Given the description of an element on the screen output the (x, y) to click on. 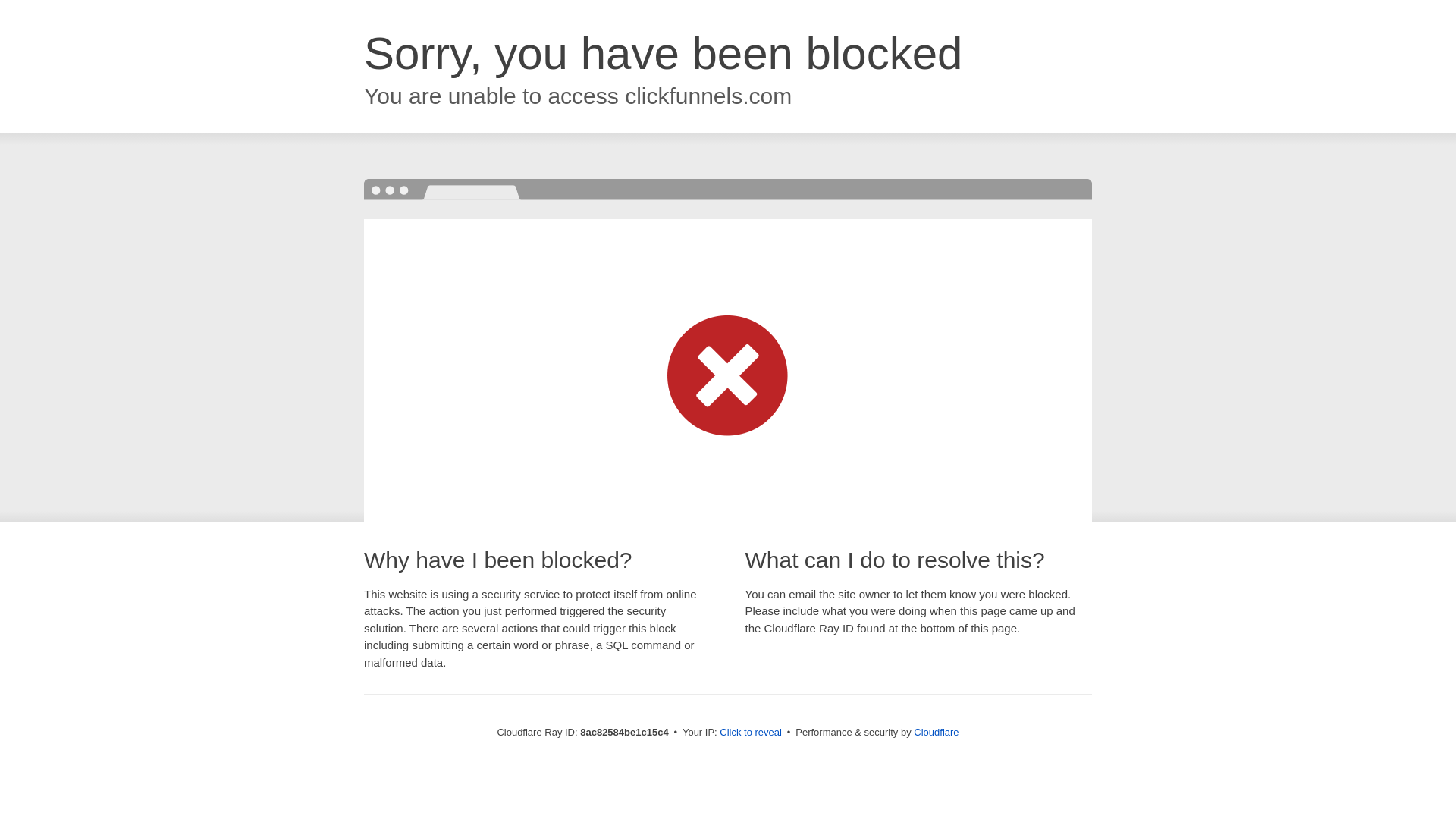
Click to reveal (750, 732)
Cloudflare (936, 731)
